Given the description of an element on the screen output the (x, y) to click on. 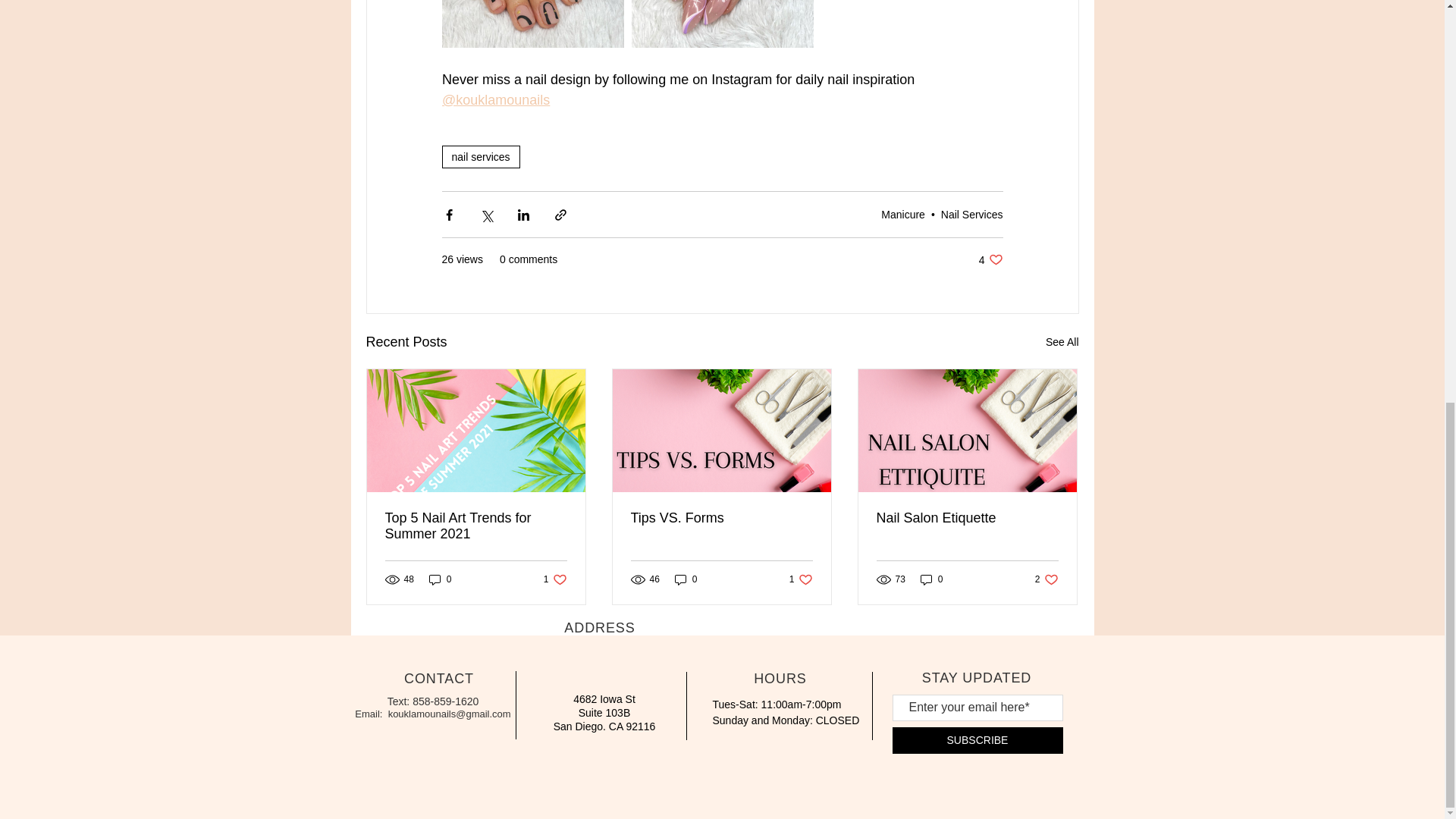
nail services (480, 156)
Manicure (902, 214)
See All (1061, 341)
0 (440, 579)
Nail Services (971, 214)
0 (1046, 579)
Nail Salon Etiquette (685, 579)
Tips VS. Forms (967, 518)
Top 5 Nail Art Trends for Summer 2021 (721, 518)
0 (555, 579)
